Given the description of an element on the screen output the (x, y) to click on. 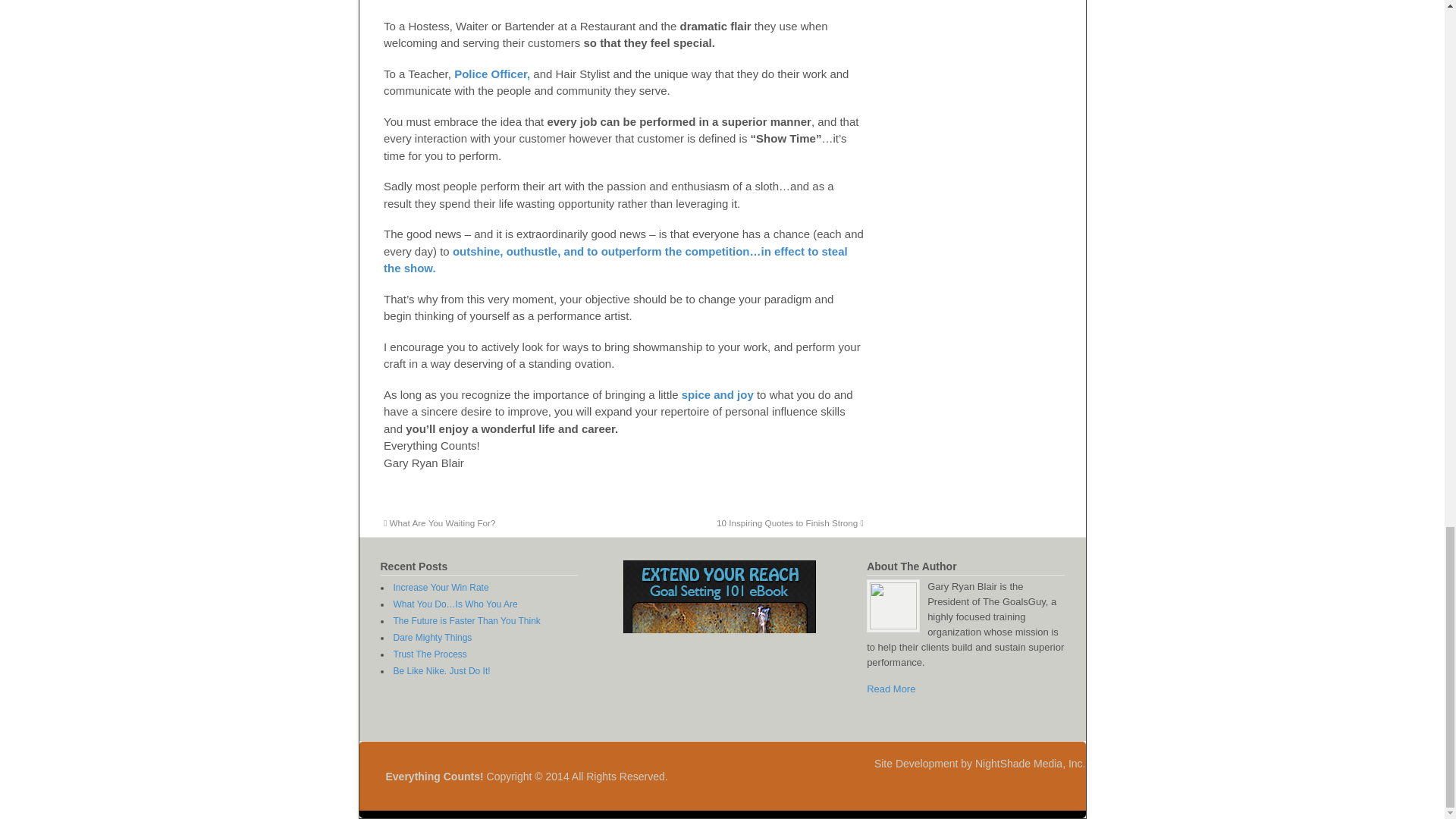
Police Officer, (491, 72)
What Are You Waiting For? (439, 522)
10 Inspiring Quotes to Finish Strong (789, 522)
spice and joy (717, 394)
